Given the description of an element on the screen output the (x, y) to click on. 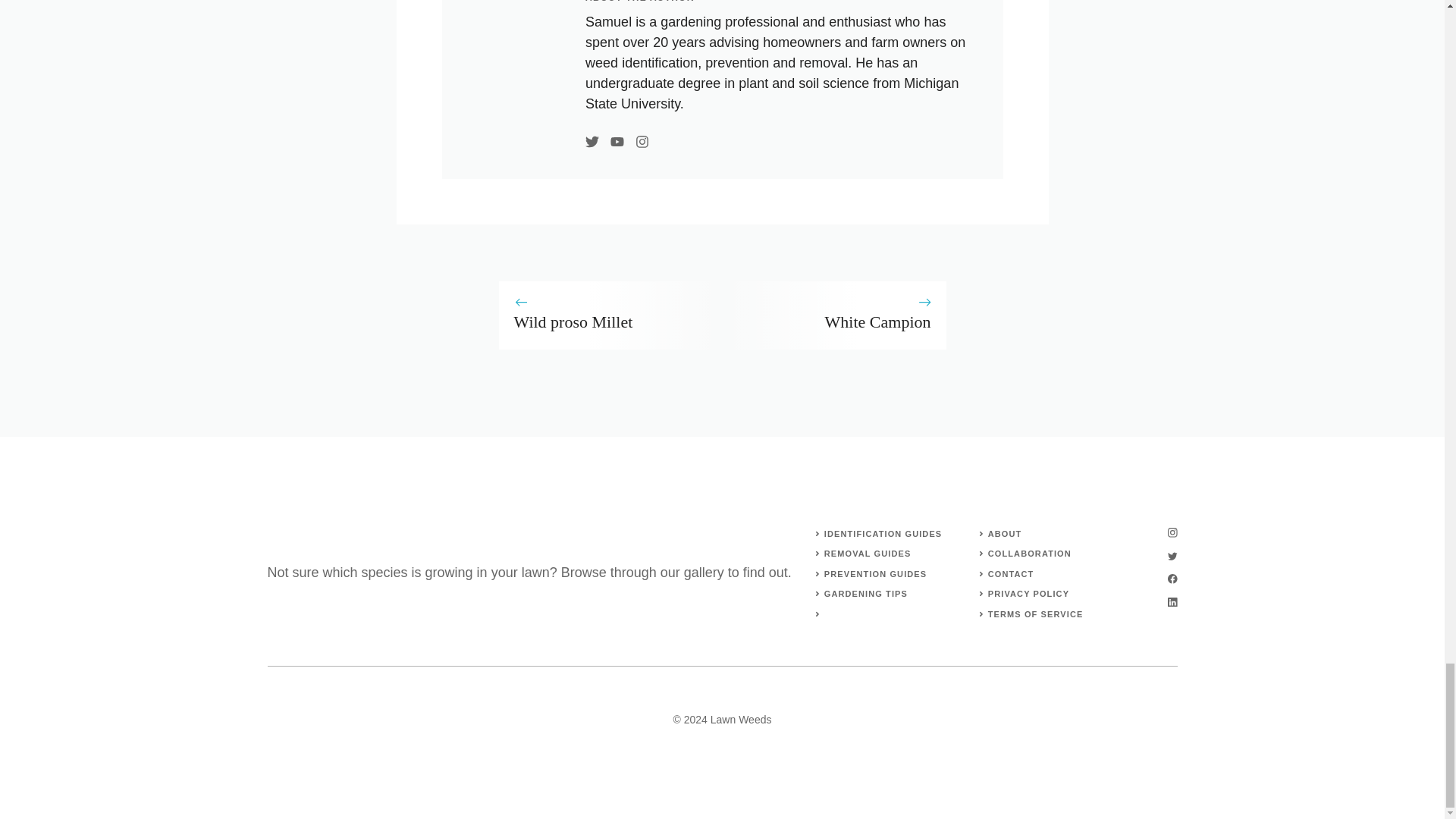
Wild proso Millet (573, 321)
ABOUT (1005, 533)
CONTACT (1010, 573)
TERMS OF SERVICE (1035, 614)
White Campion (878, 321)
PRIVACY POLICY (1028, 593)
